Given the description of an element on the screen output the (x, y) to click on. 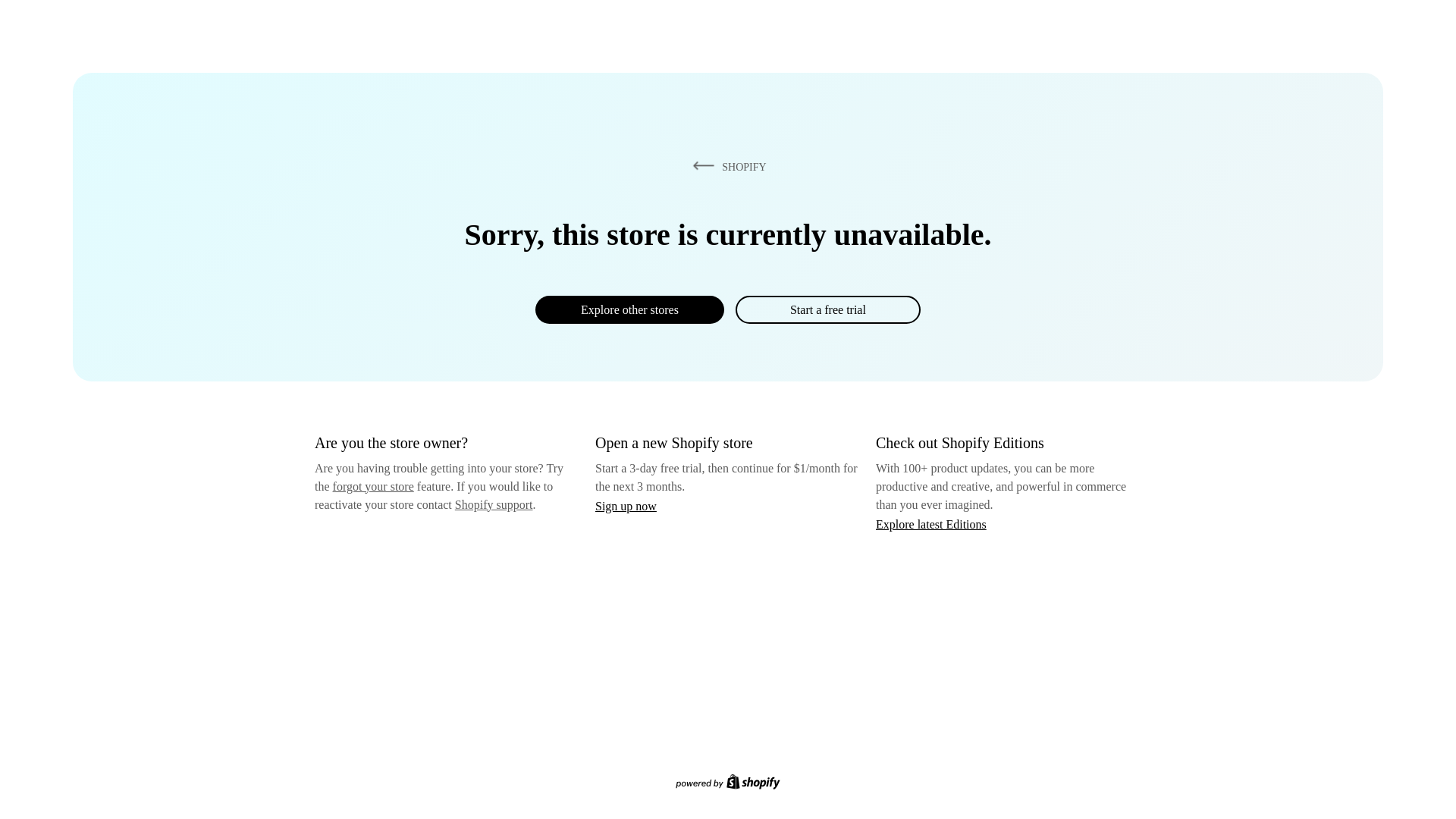
Explore other stores (629, 309)
Start a free trial (827, 309)
Shopify support (493, 504)
SHOPIFY (726, 166)
Sign up now (625, 505)
forgot your store (373, 486)
Explore latest Editions (931, 523)
